Given the description of an element on the screen output the (x, y) to click on. 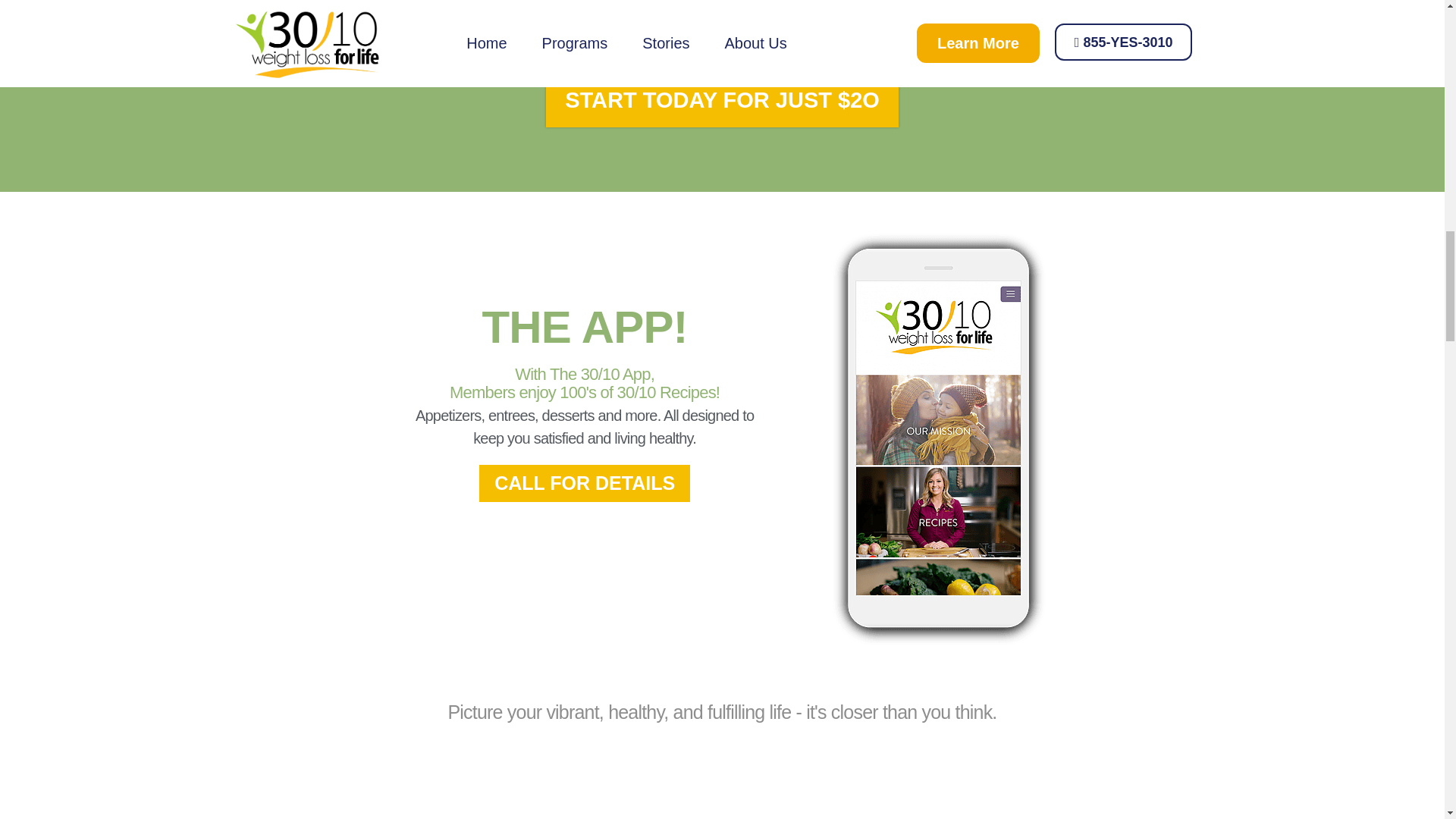
CALL FOR DETAILS (584, 483)
